Given the description of an element on the screen output the (x, y) to click on. 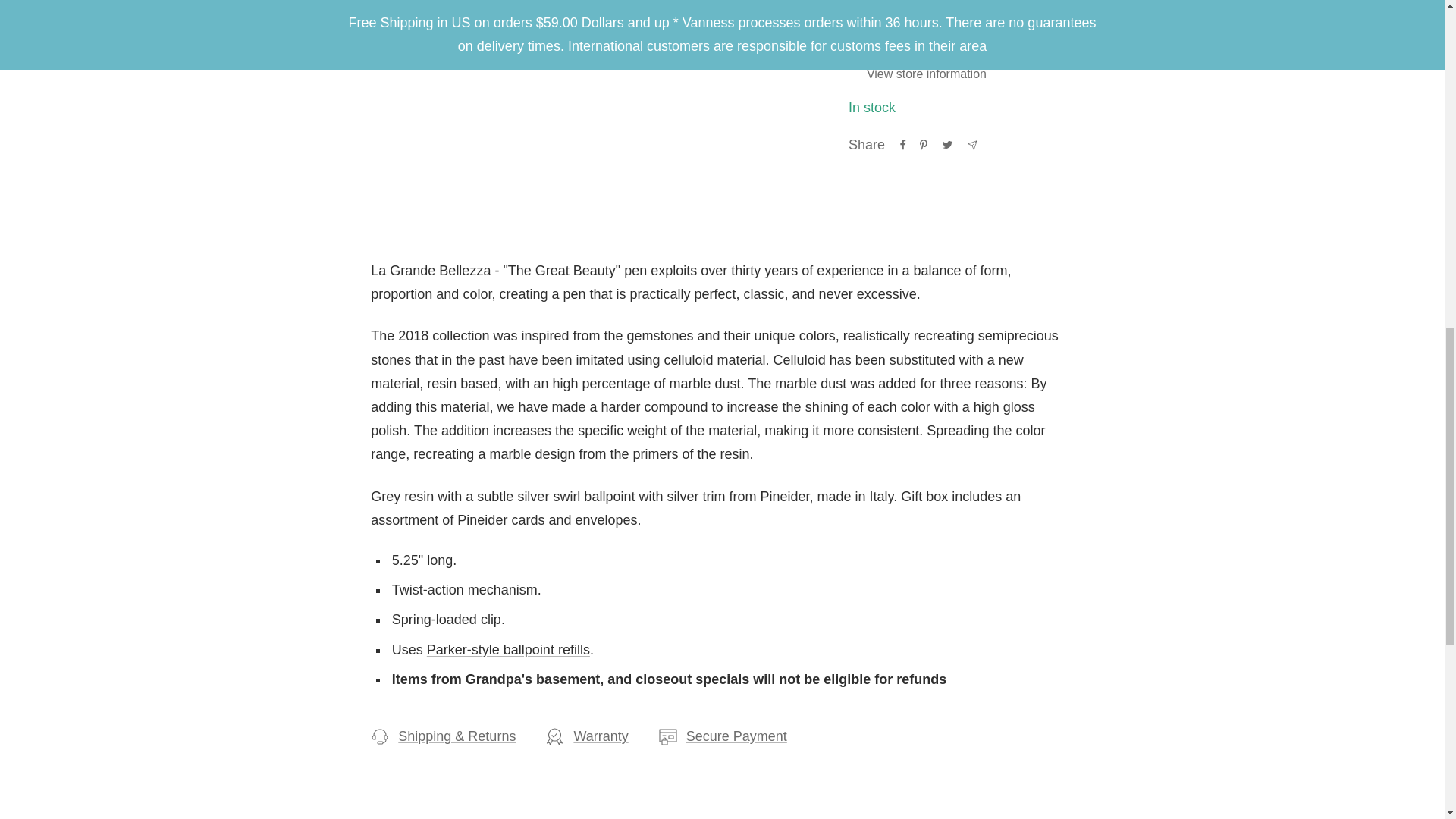
Parker-style ballpoint refills (507, 649)
View store information (926, 74)
